Given the description of an element on the screen output the (x, y) to click on. 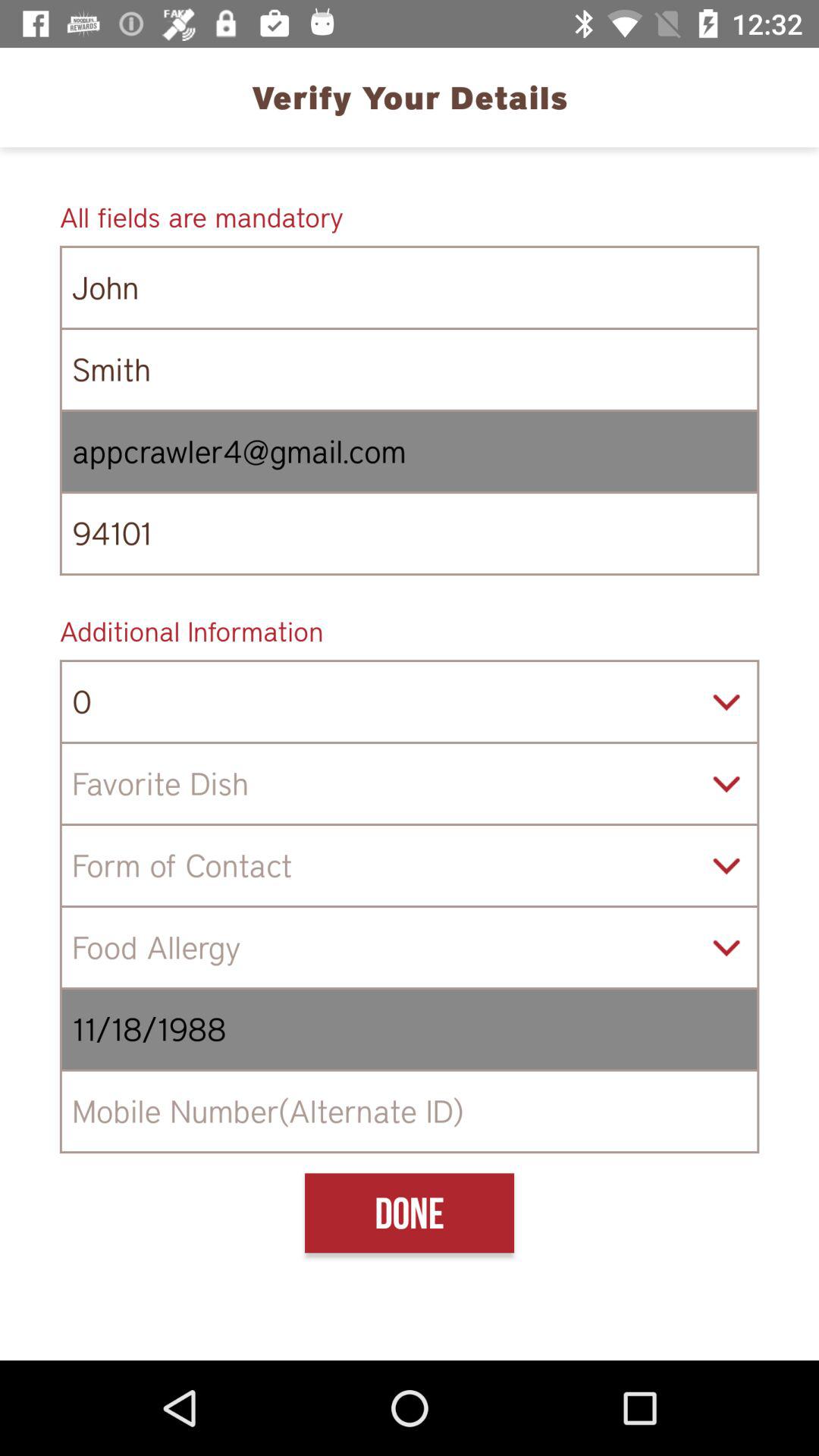
tap icon above the john icon (409, 217)
